Given the description of an element on the screen output the (x, y) to click on. 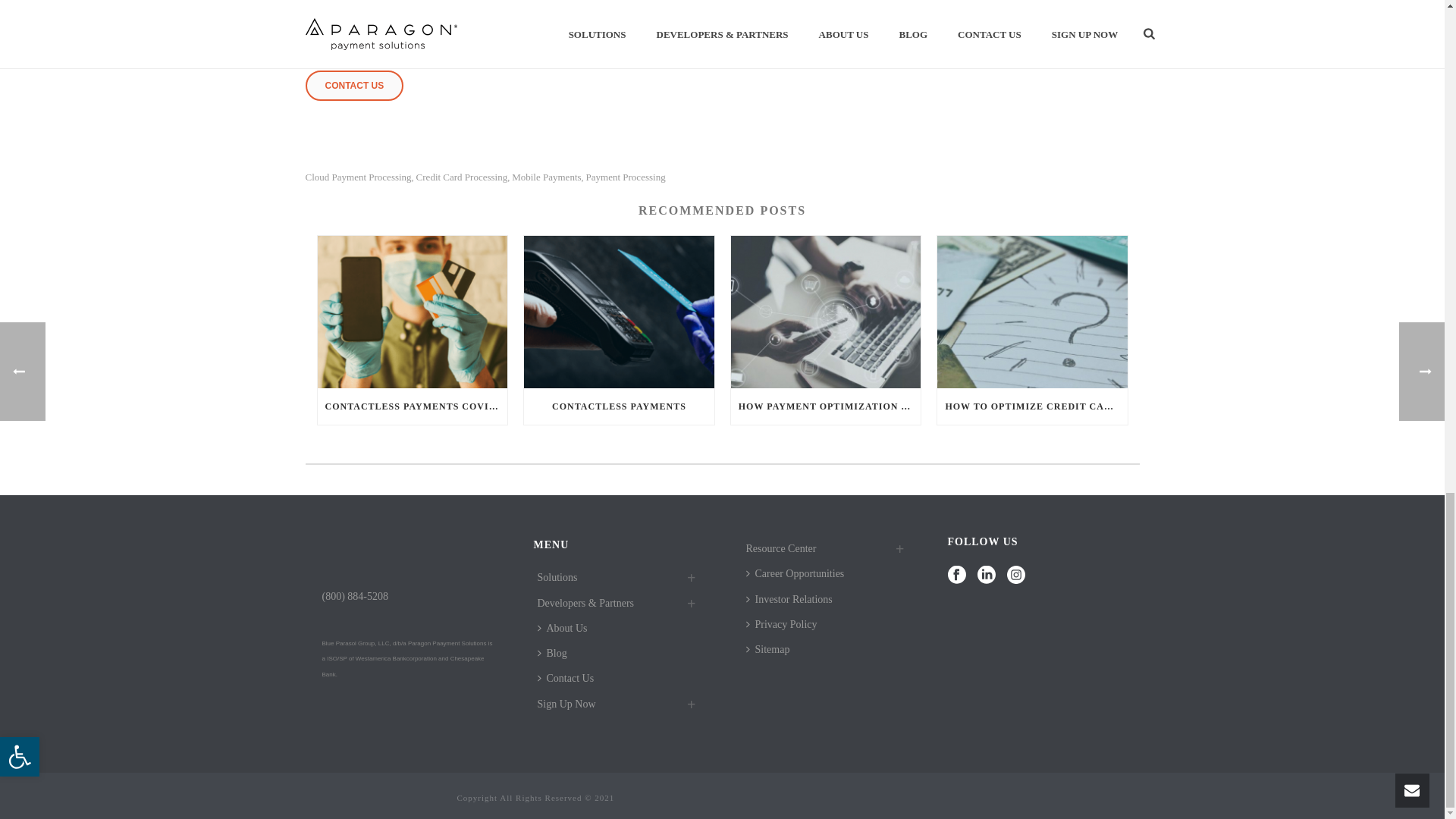
How Payment Optimization Works (825, 311)
Contactless Payments Covid Upgrade (411, 311)
Contactless Payments (619, 311)
Contact Us (353, 85)
How to Optimize Credit Card Interchange Rates (1031, 311)
